Given the description of an element on the screen output the (x, y) to click on. 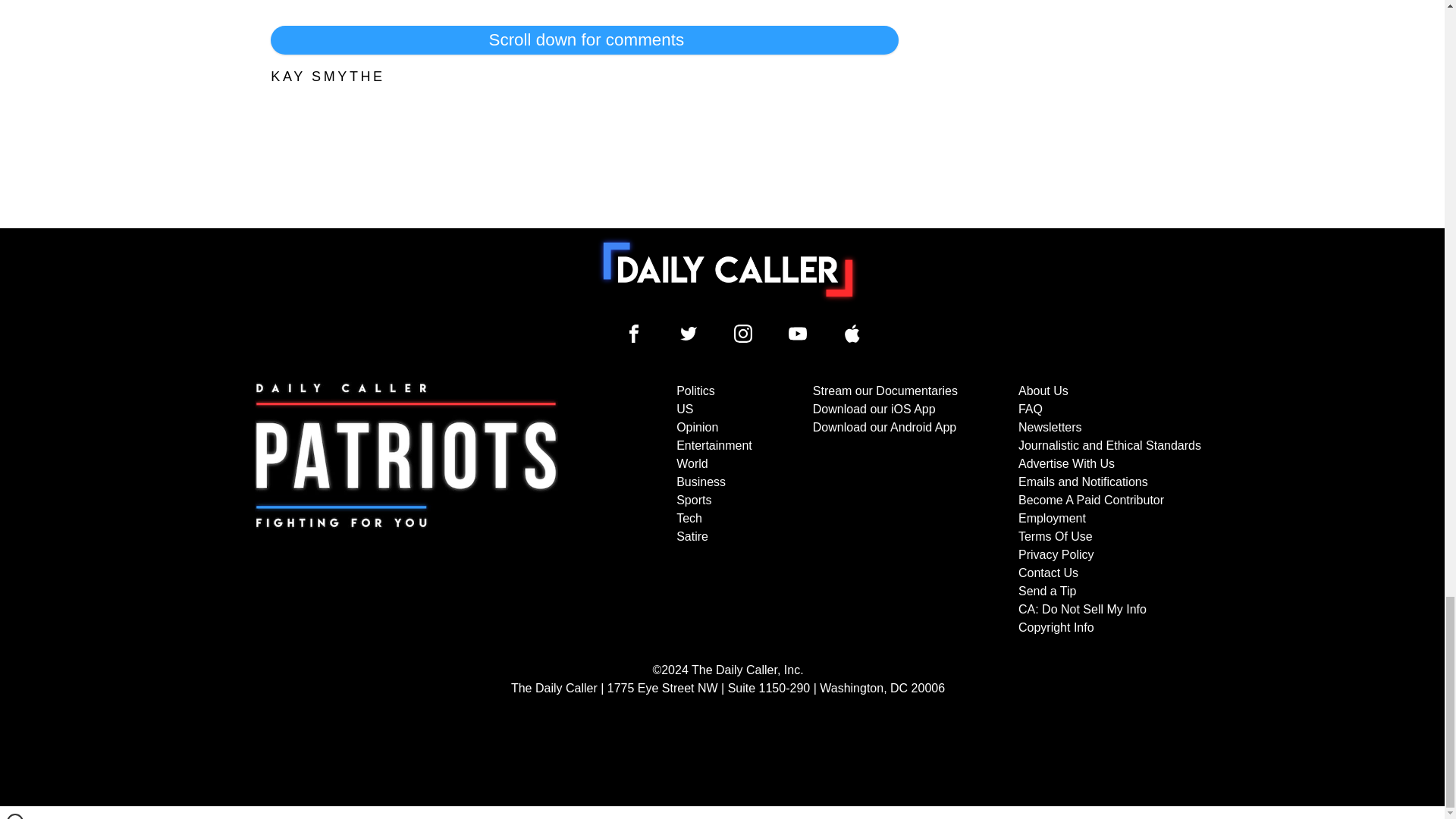
Daily Caller YouTube (852, 333)
Daily Caller Facebook (633, 333)
Subscribe to The Daily Caller (405, 509)
Daily Caller YouTube (797, 333)
To home page (727, 269)
Scroll down for comments (584, 39)
Daily Caller Instagram (742, 333)
Daily Caller Twitter (688, 333)
